Given the description of an element on the screen output the (x, y) to click on. 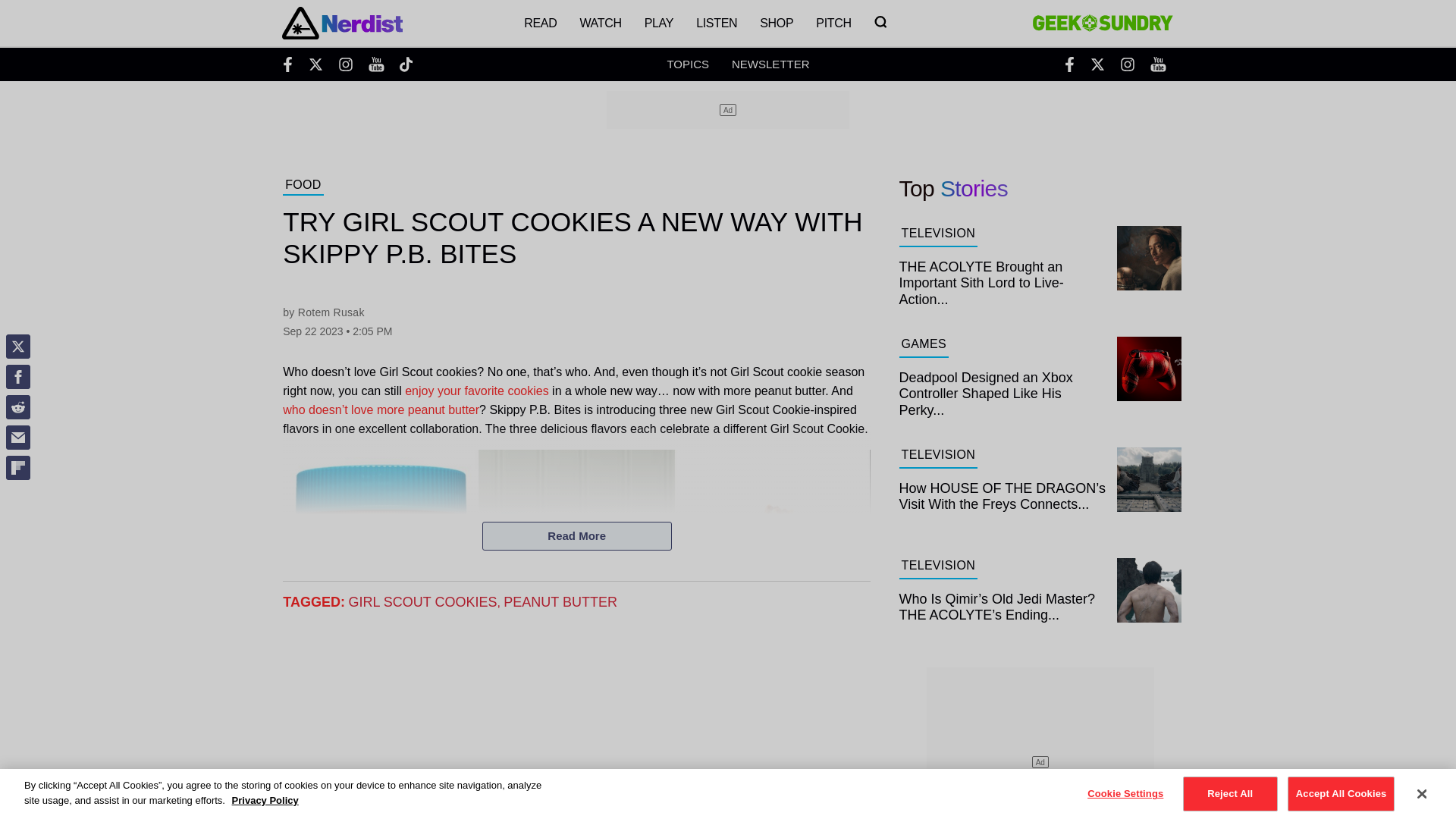
Youtube Nerdist (376, 63)
WATCH (599, 22)
Read More (576, 535)
PEANUT BUTTER (560, 601)
Cookie Settings (1125, 793)
TOPICS (687, 63)
READ (539, 22)
Topics (687, 63)
THE ACOLYTE Brought an Important Sith Lord to Live-Action... (1039, 279)
enjoy your favorite cookies (476, 390)
WATCH (599, 22)
Accept All Cookies (1340, 793)
Reject All (1230, 793)
NEWSLETTER (770, 63)
TELEVISION (937, 567)
